Given the description of an element on the screen output the (x, y) to click on. 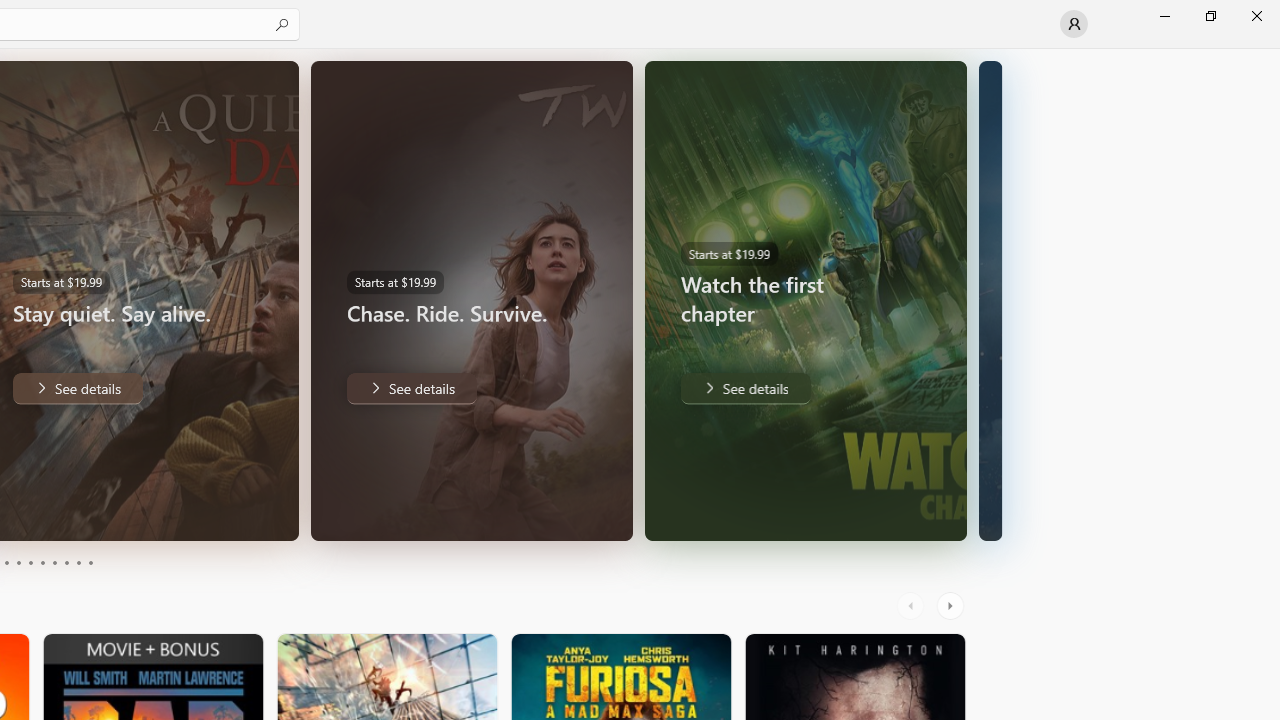
Page 8 (65, 562)
Page 9 (77, 562)
